Given the description of an element on the screen output the (x, y) to click on. 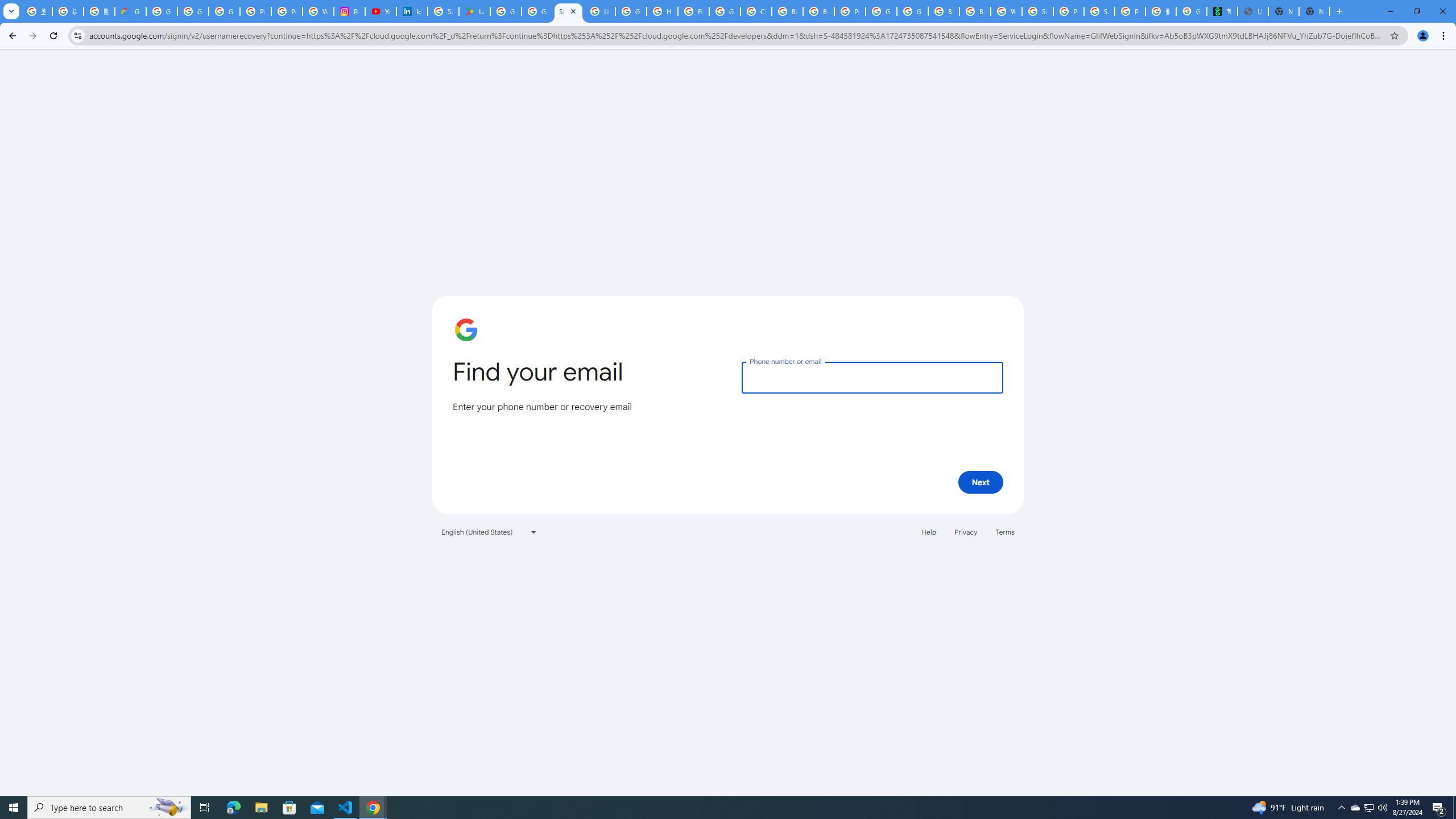
Privacy (965, 531)
Help (928, 531)
How do I create a new Google Account? - Google Account Help (662, 11)
Sign in - Google Accounts (443, 11)
